Given the description of an element on the screen output the (x, y) to click on. 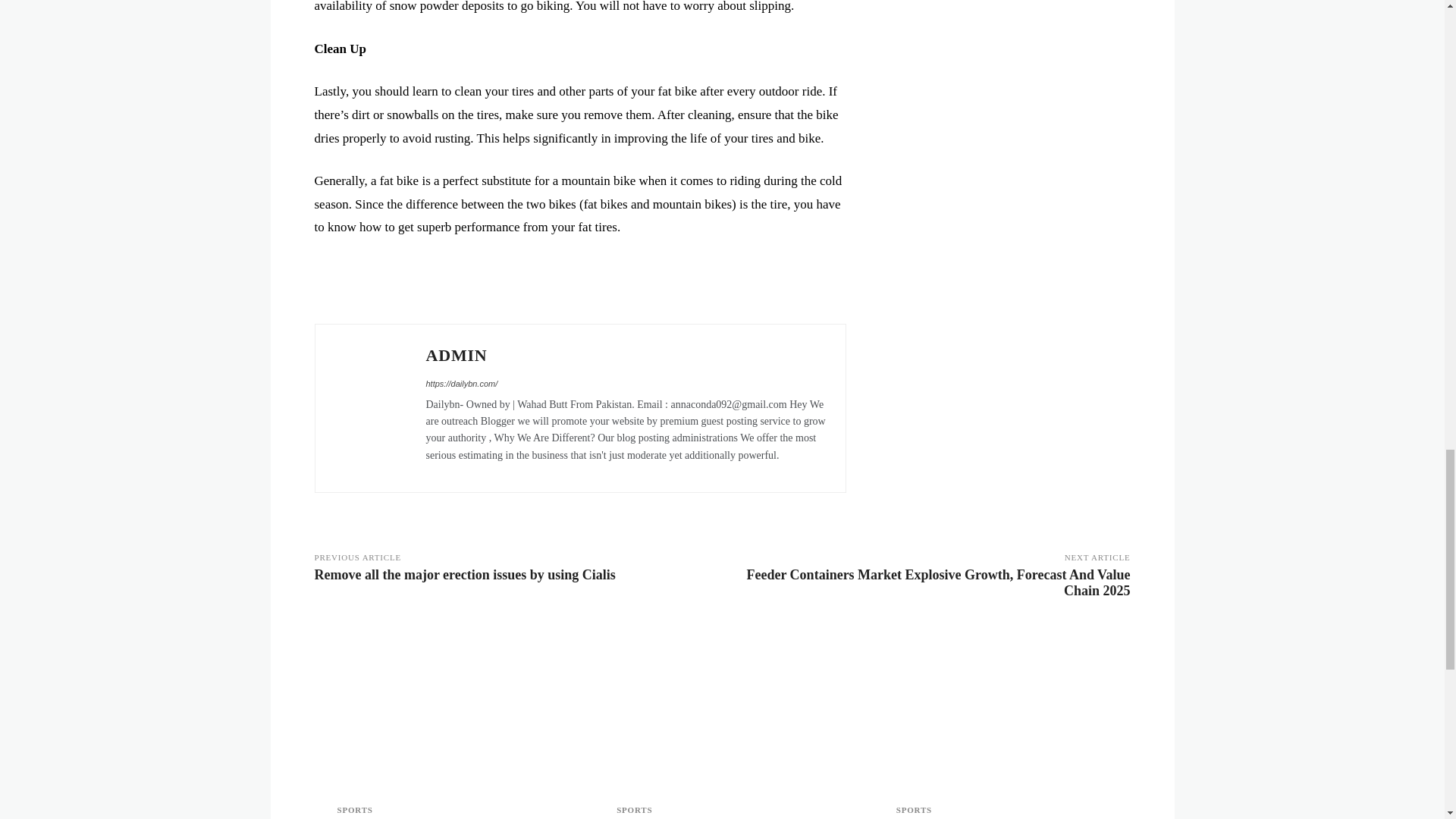
Performance Pickleball Shoes for Women (718, 816)
Upgrade Your Look with Adifom Stan Smith Mule Shoes (442, 705)
Upgrade Your Look with Adifom Stan Smith Mule Shoes (441, 816)
ADMIN (626, 355)
Performance Pickleball Shoes for Women (722, 705)
